Given the description of an element on the screen output the (x, y) to click on. 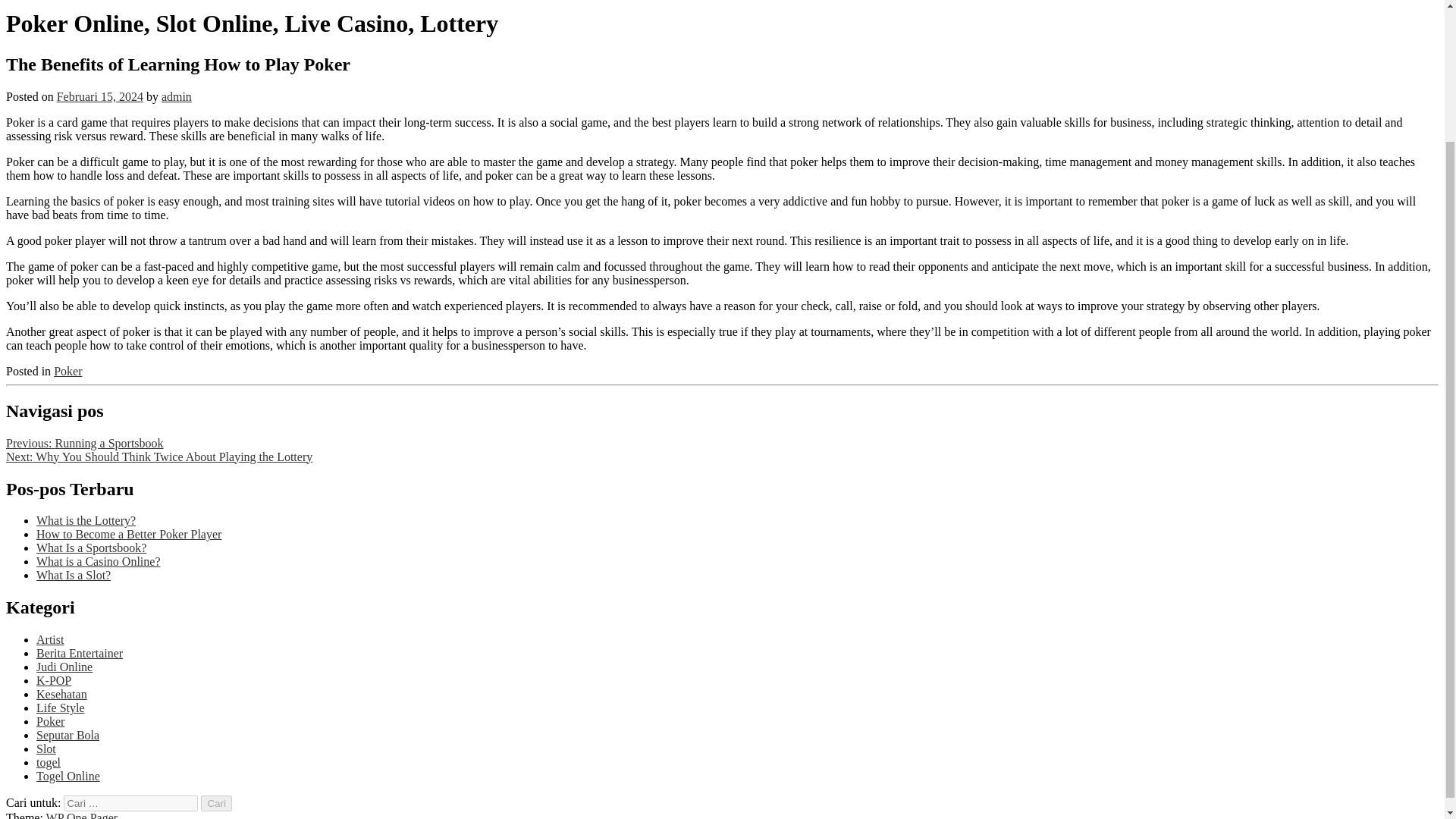
What Is a Sportsbook? (91, 547)
How to Become a Better Poker Player (128, 533)
Cari (215, 803)
What Is a Slot? (73, 574)
Poker (50, 721)
Next: Why You Should Think Twice About Playing the Lottery (159, 456)
togel (48, 762)
admin (176, 96)
Cari (215, 803)
K-POP (53, 680)
